Given the description of an element on the screen output the (x, y) to click on. 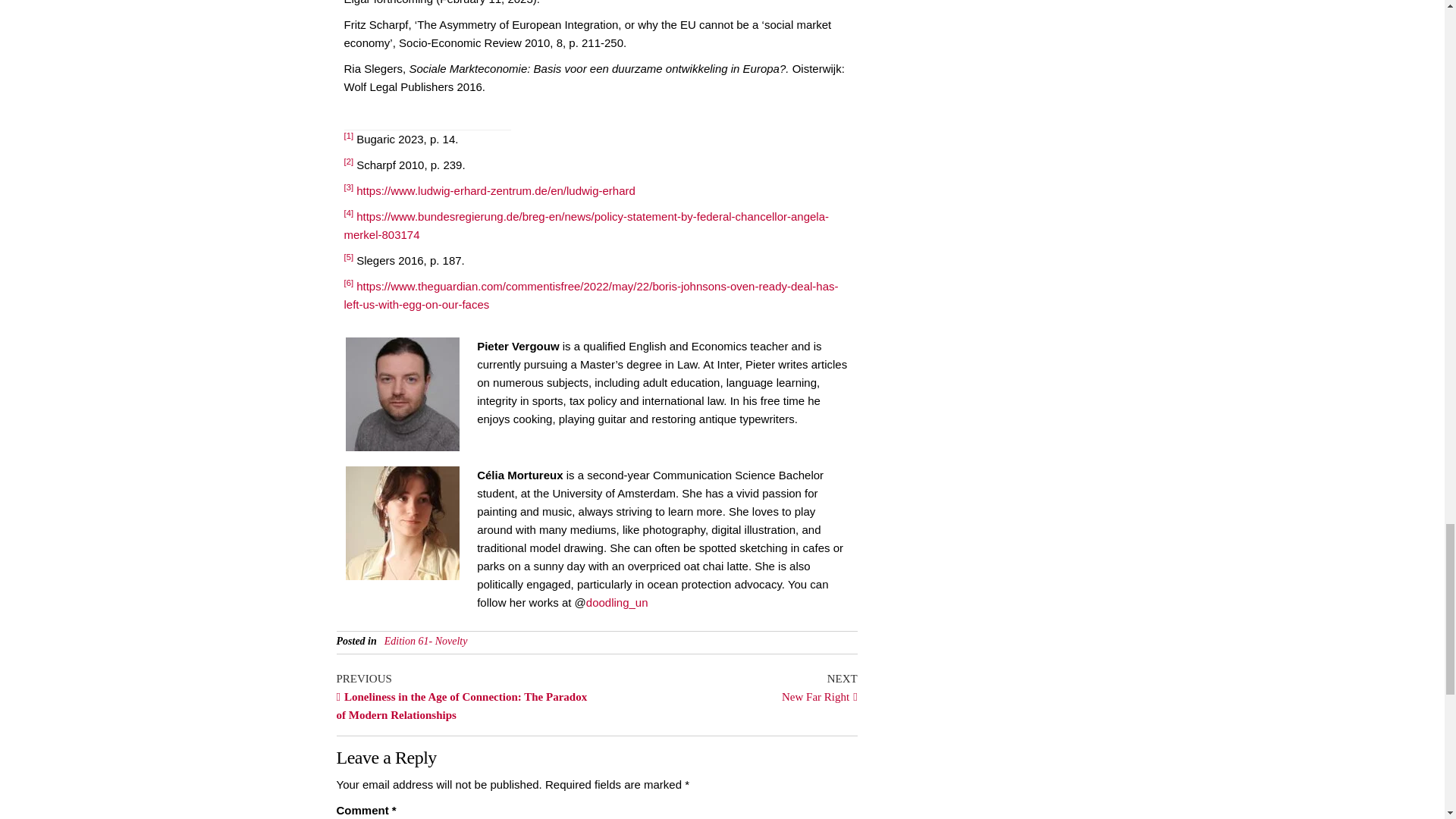
Pieter Vergouw (726, 685)
Edition 61- Novelty (518, 345)
